Given the description of an element on the screen output the (x, y) to click on. 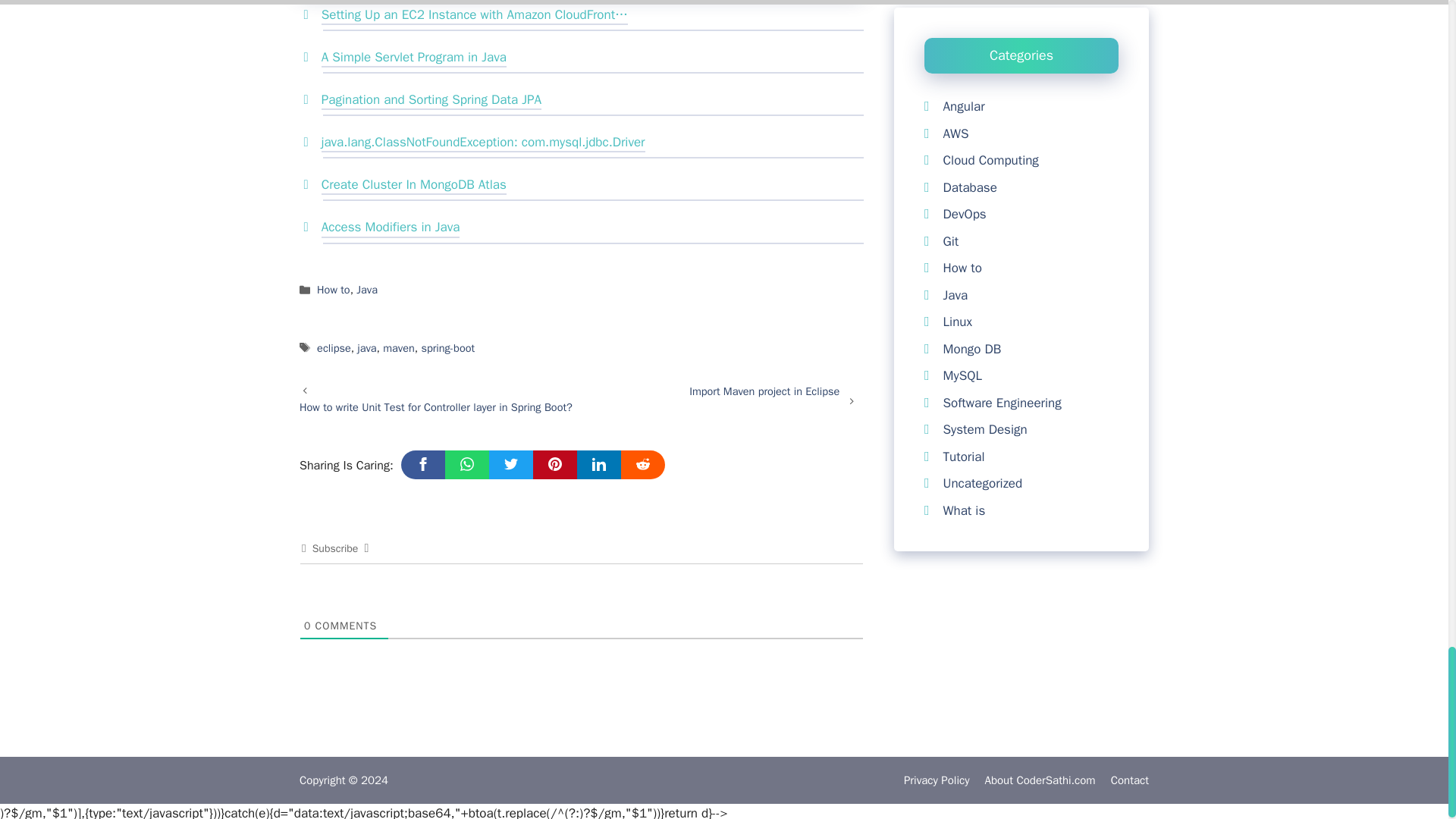
Access Modifiers in Java (390, 229)
java.lang.ClassNotFoundException: com.mysql.jdbc.Driver (483, 143)
java (365, 348)
spring-boot (447, 348)
Java (366, 289)
How to write Unit Test for Controller layer in Spring Boot? (435, 407)
A Simple Servlet Program in Java (413, 58)
Create Cluster In MongoDB Atlas (413, 186)
How to (333, 289)
Import Maven project in Eclipse (764, 391)
